Given the description of an element on the screen output the (x, y) to click on. 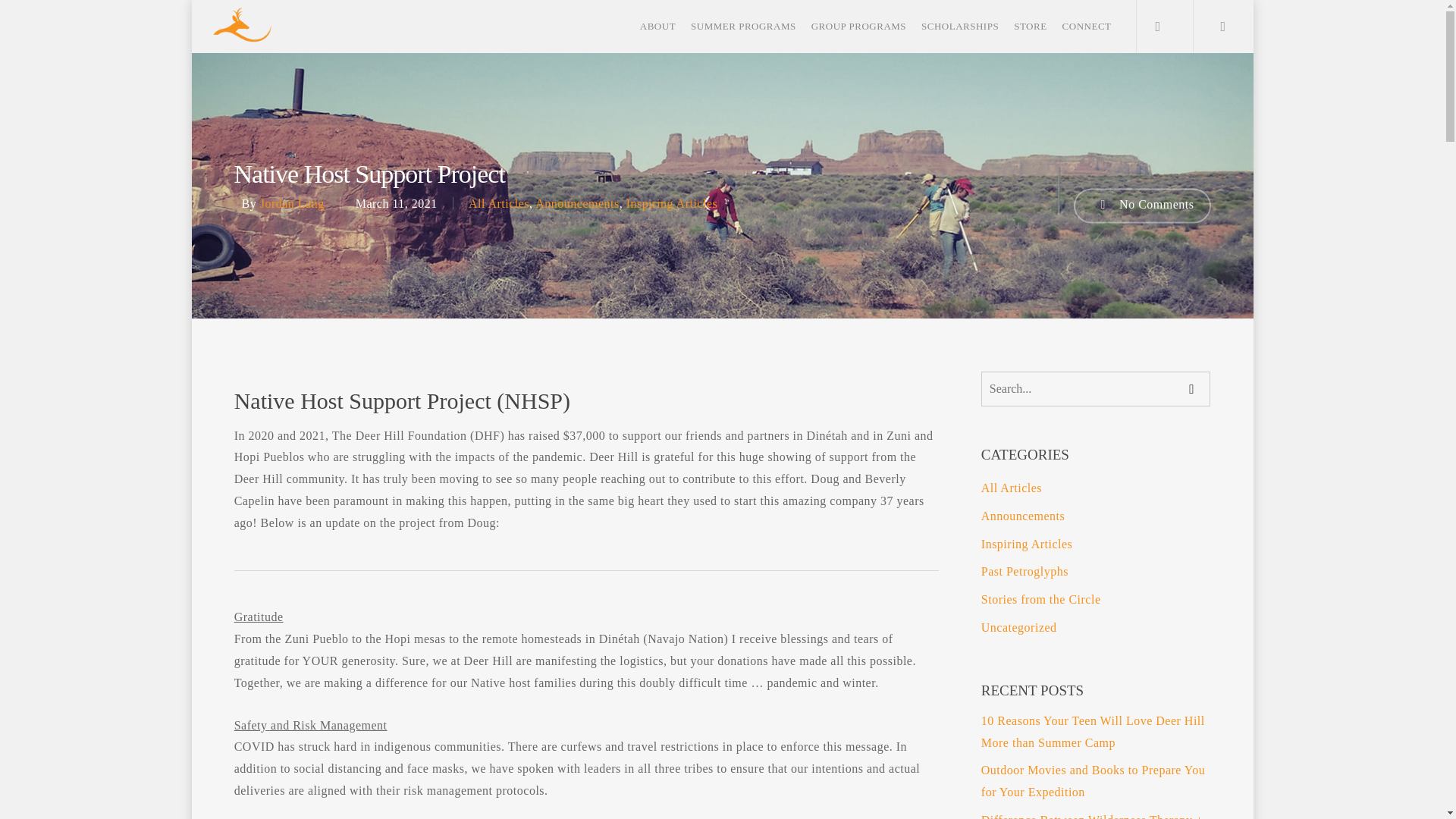
SUMMER PROGRAMS (742, 26)
CONNECT (1086, 26)
SCHOLARSHIPS (960, 26)
Posts by Jordan Lang (292, 203)
Search for: (1096, 388)
ABOUT (656, 26)
STORE (1030, 26)
GROUP PROGRAMS (858, 26)
